Given the description of an element on the screen output the (x, y) to click on. 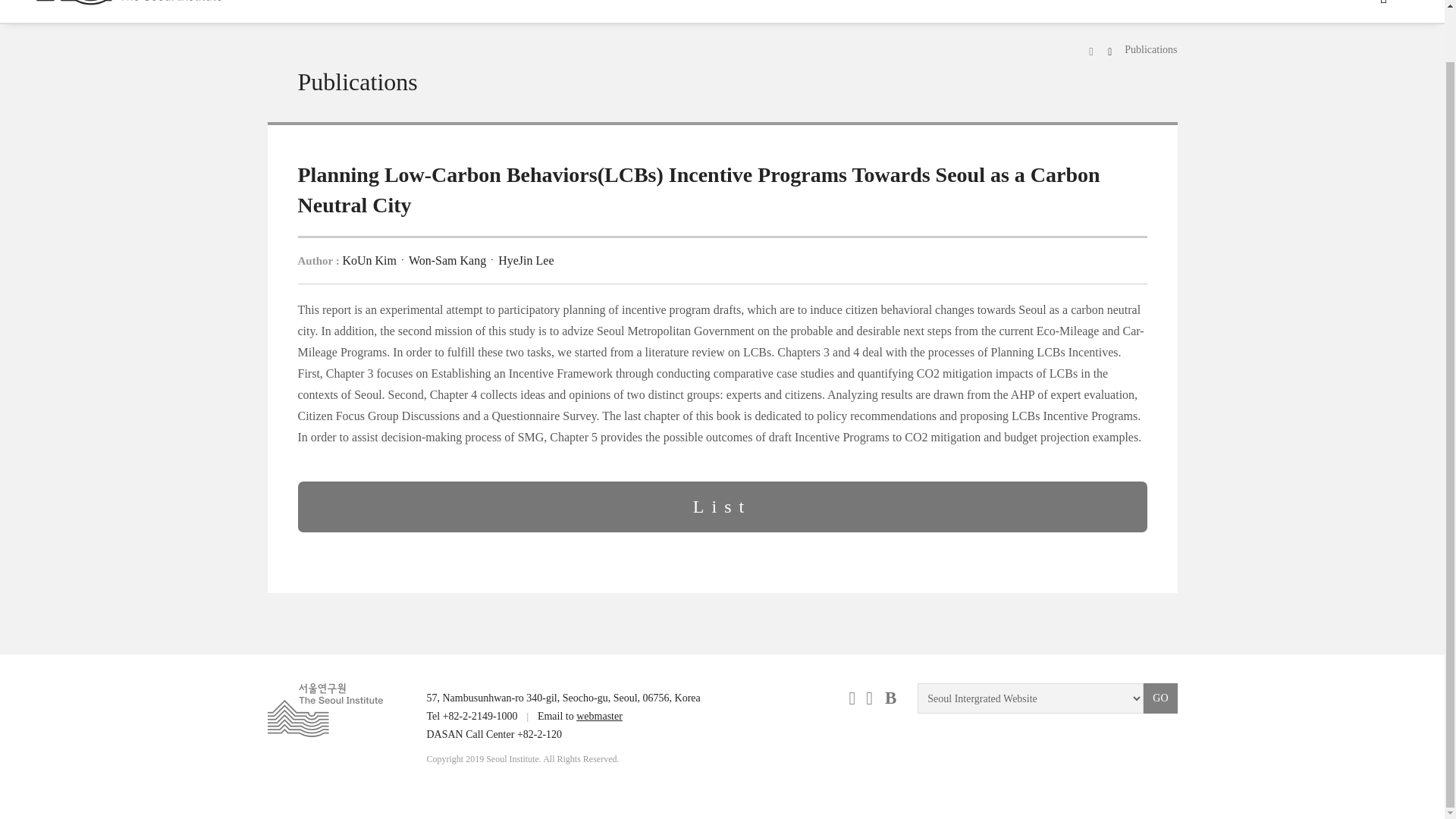
GO (1159, 698)
Search (1389, 2)
B (889, 697)
Publications (1150, 49)
webmaster (599, 715)
SI blog (889, 697)
List (722, 506)
 List (722, 506)
Seoul Institute homepage (129, 2)
Search (1389, 2)
